Given the description of an element on the screen output the (x, y) to click on. 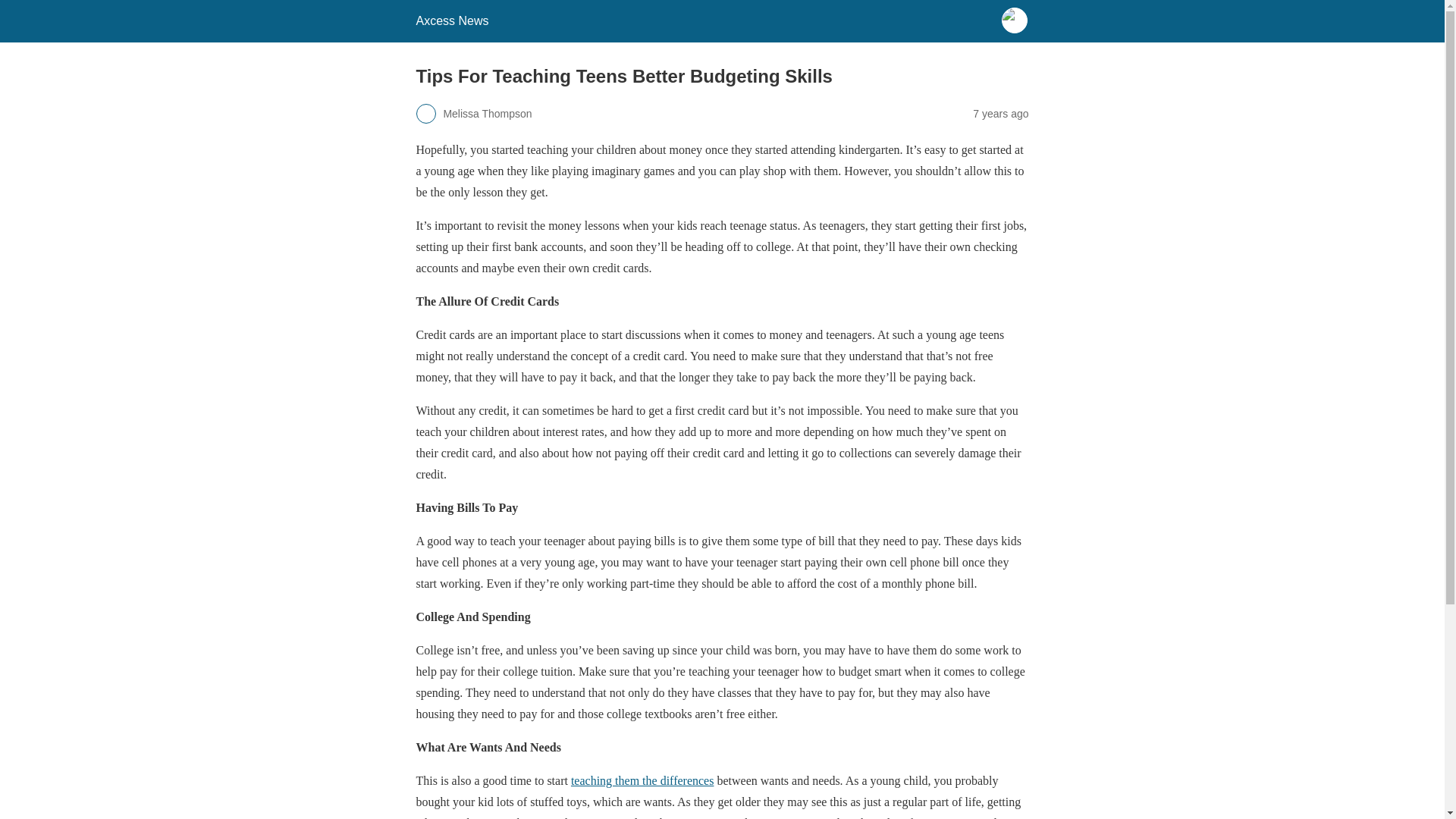
teaching them the differences (642, 780)
Axcess News (450, 20)
